Given the description of an element on the screen output the (x, y) to click on. 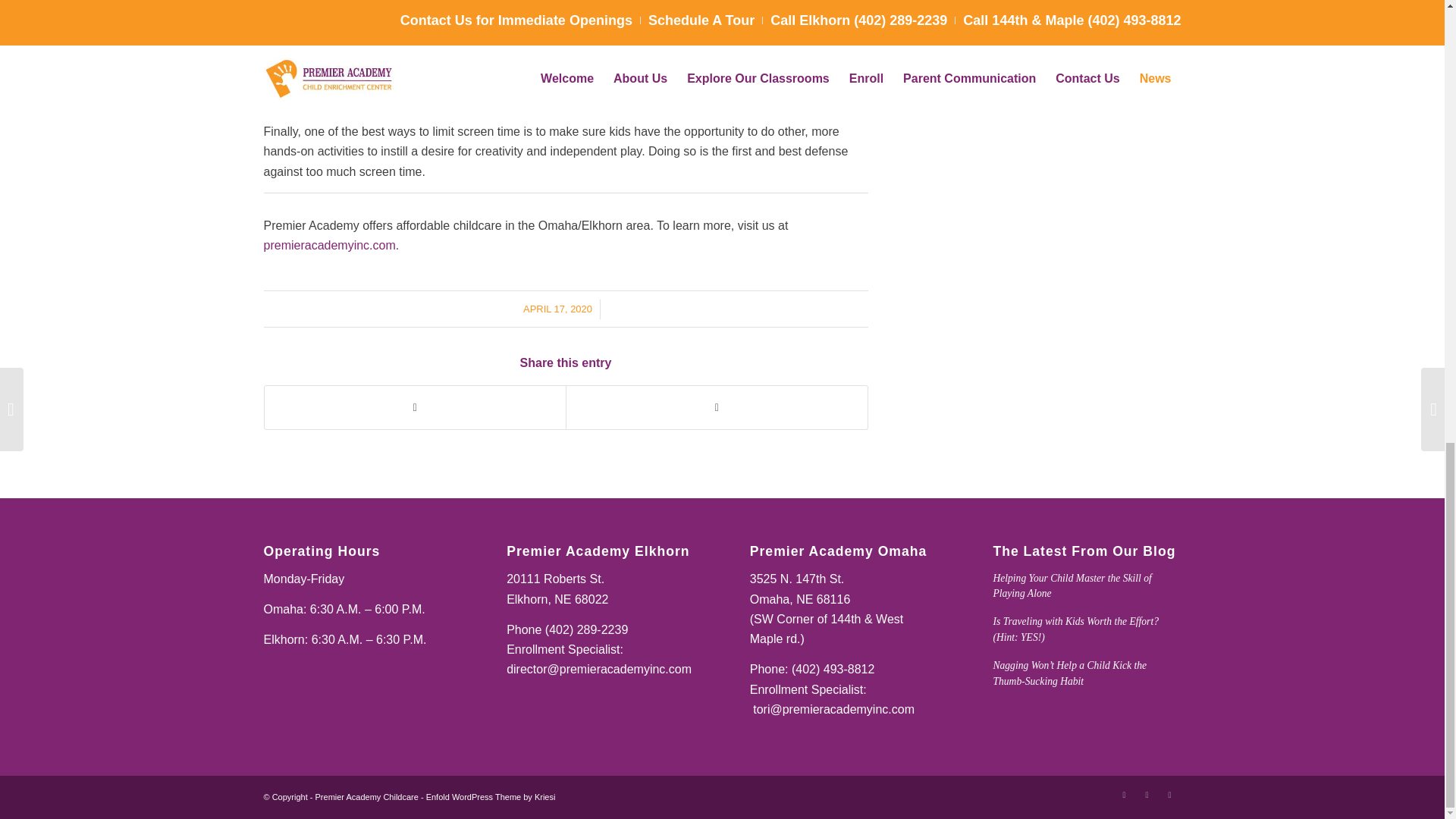
Mail (1169, 793)
premieracademyinc.com (329, 245)
Instagram (1146, 793)
Facebook (1124, 793)
